Given the description of an element on the screen output the (x, y) to click on. 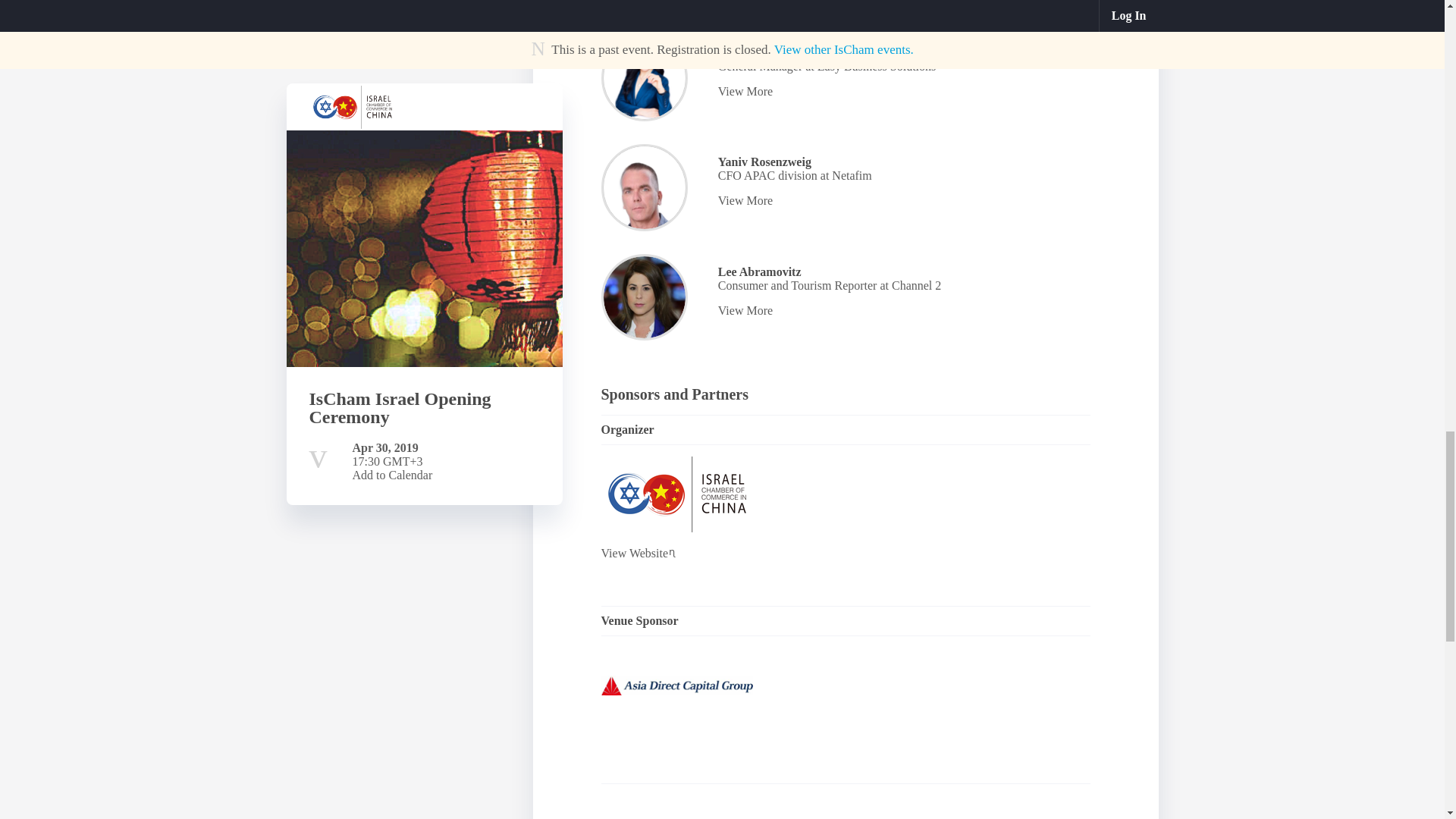
View More (900, 201)
View More (900, 310)
View More (900, 91)
View Website (722, 553)
